Given the description of an element on the screen output the (x, y) to click on. 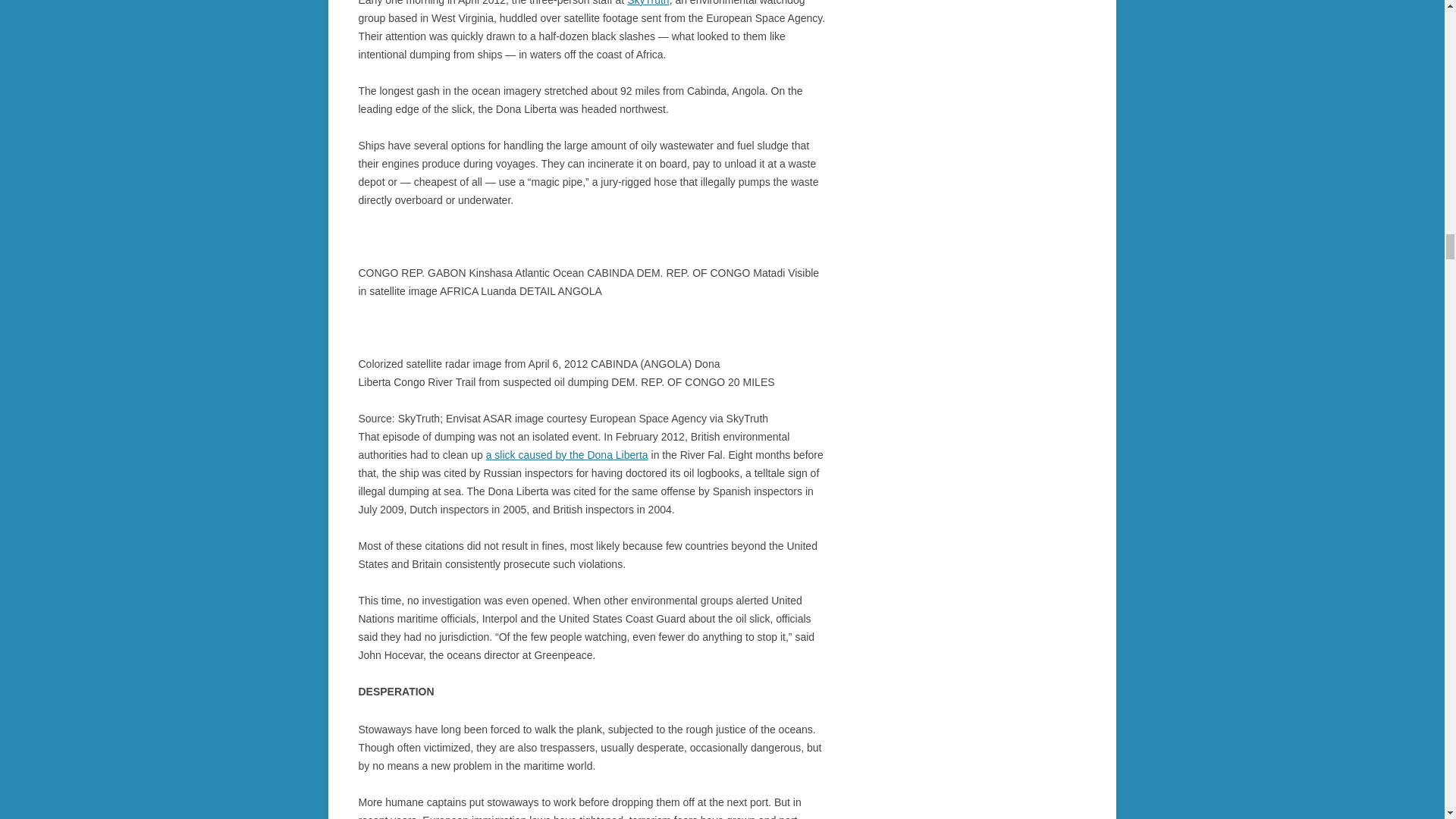
a slick caused by the Dona Liberta (566, 454)
SkyTruth (648, 2)
